Given the description of an element on the screen output the (x, y) to click on. 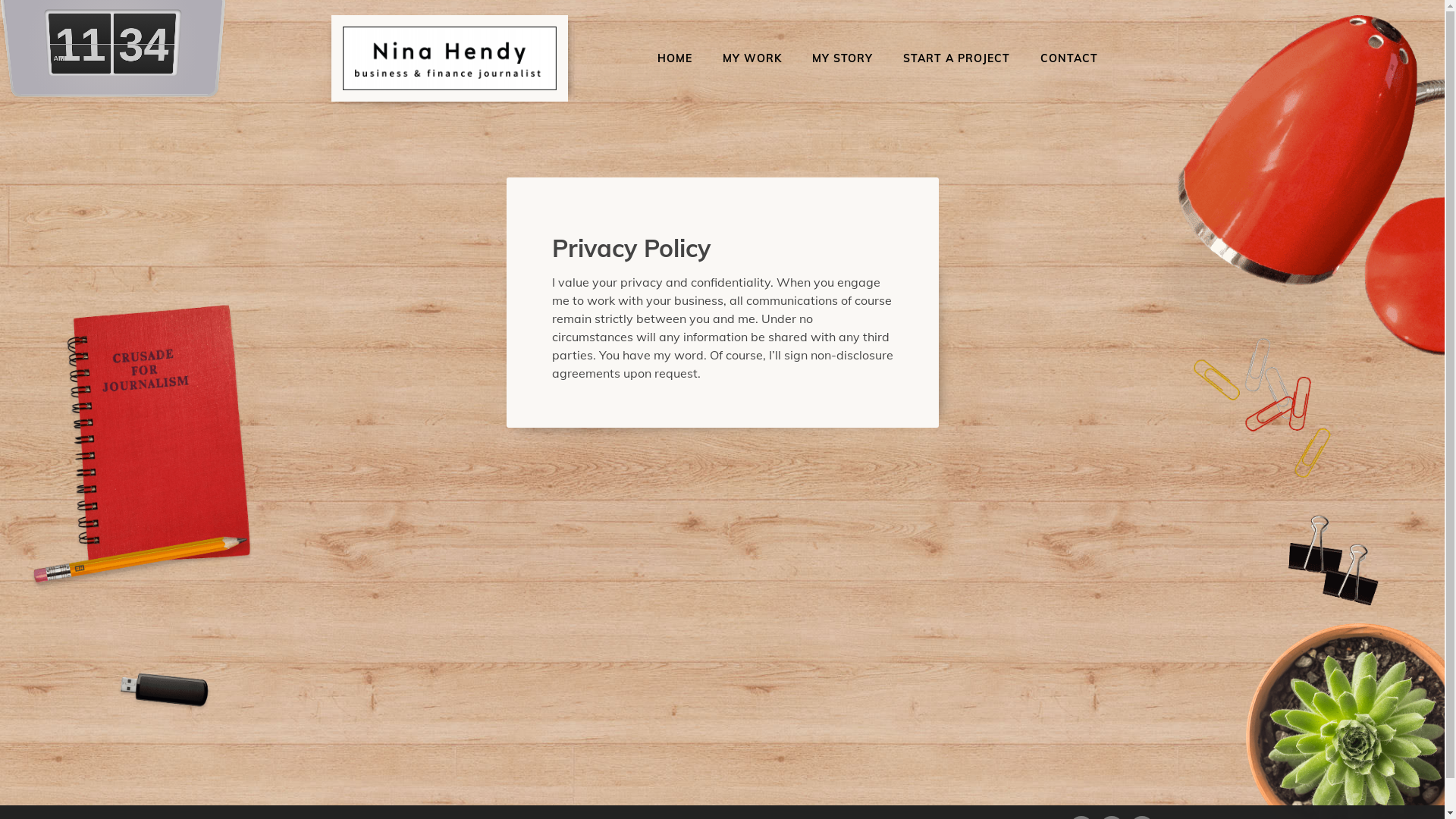
CONTACT Element type: text (1069, 57)
MY STORY Element type: text (842, 57)
MY WORK Element type: text (752, 57)
START A PROJECT Element type: text (956, 57)
HOME Element type: text (674, 57)
